Given the description of an element on the screen output the (x, y) to click on. 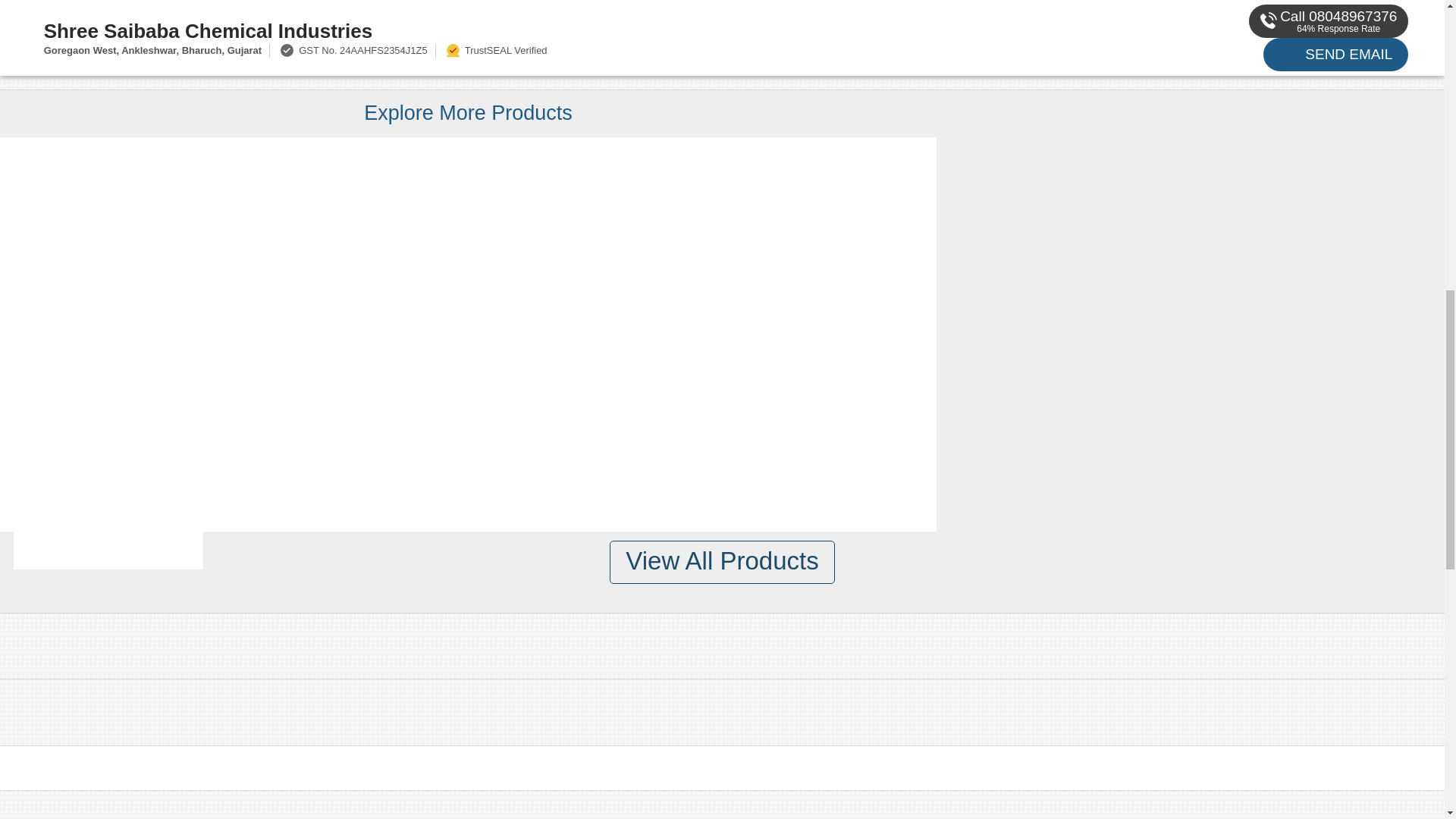
View All Products (722, 561)
